Given the description of an element on the screen output the (x, y) to click on. 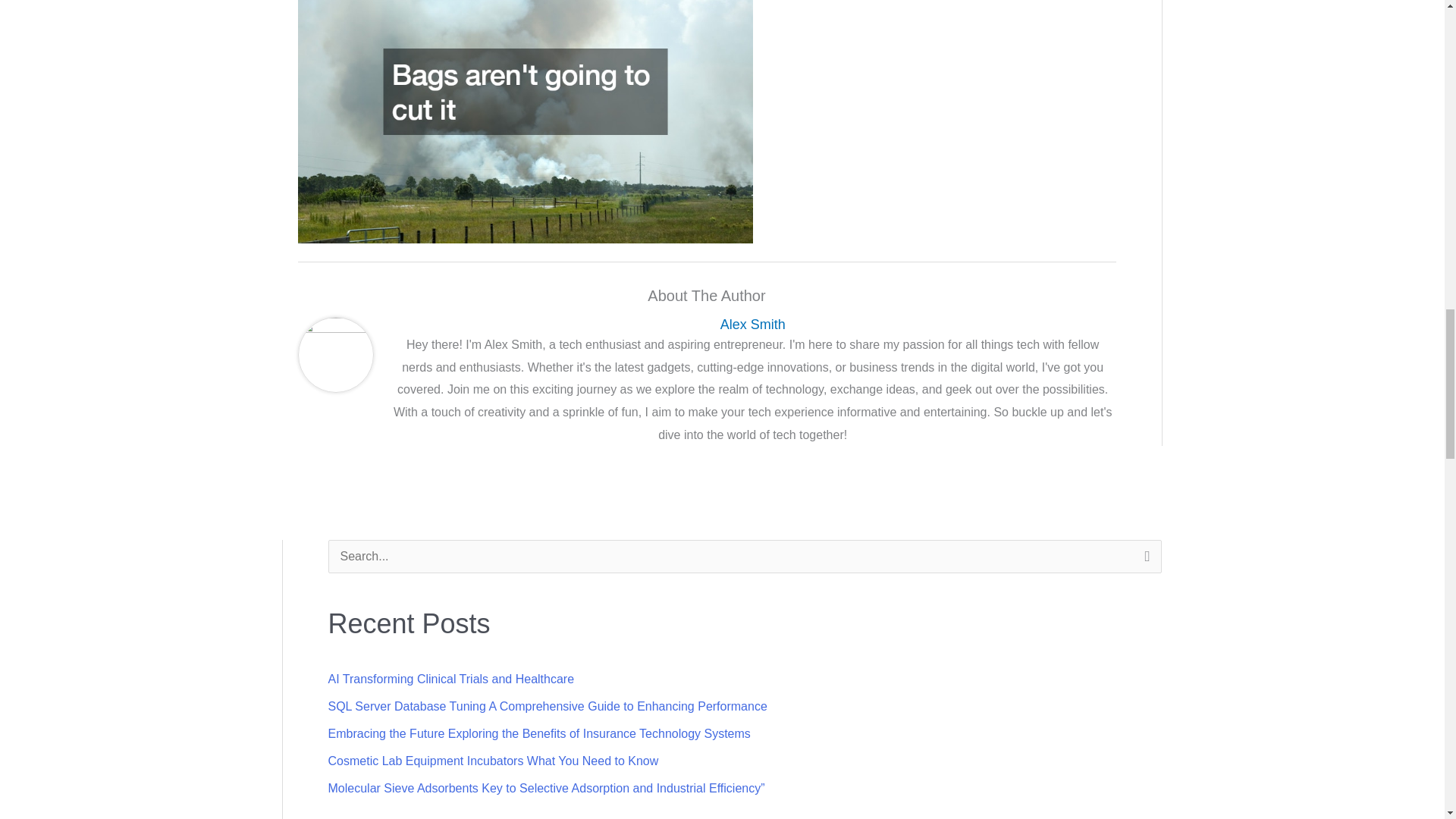
AI Transforming Clinical Trials and Healthcare (450, 678)
Alex Smith (753, 324)
Cosmetic Lab Equipment Incubators What You Need to Know (492, 760)
